Given the description of an element on the screen output the (x, y) to click on. 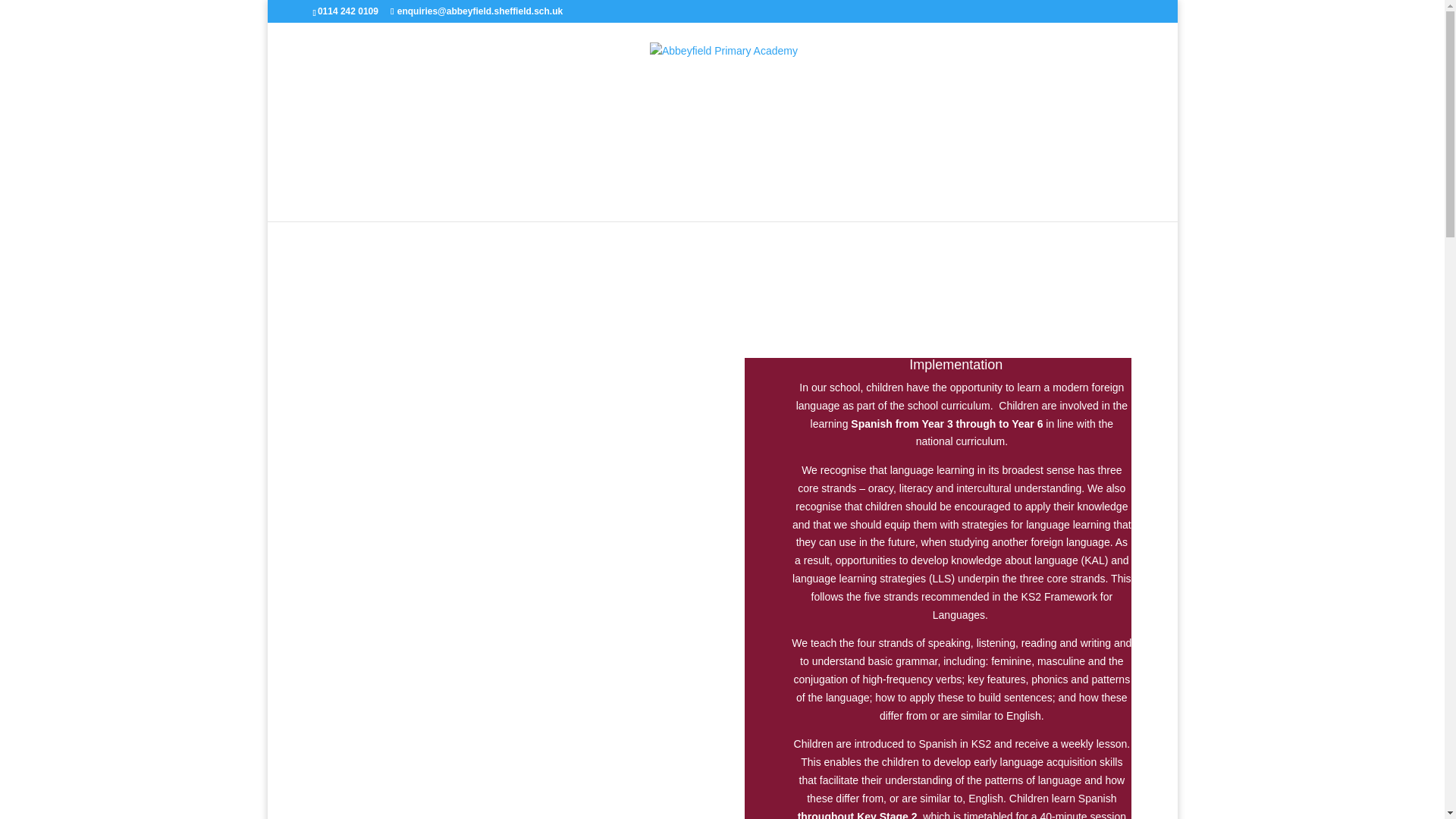
Curriculum (613, 201)
Family Information (723, 201)
Pastoral Care (515, 201)
Home (432, 201)
